Given the description of an element on the screen output the (x, y) to click on. 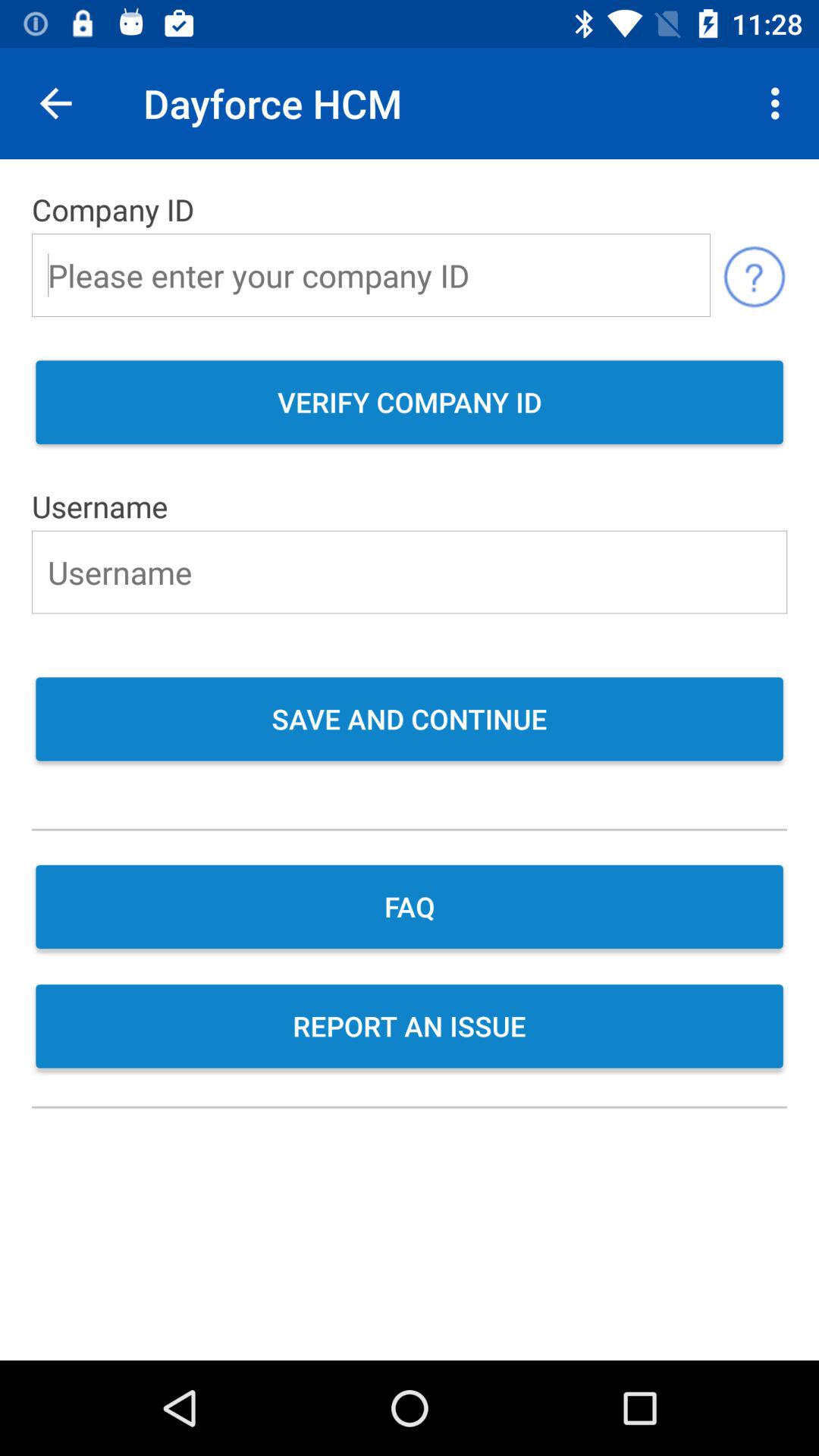
press item next to the dayforce hcm icon (779, 103)
